Given the description of an element on the screen output the (x, y) to click on. 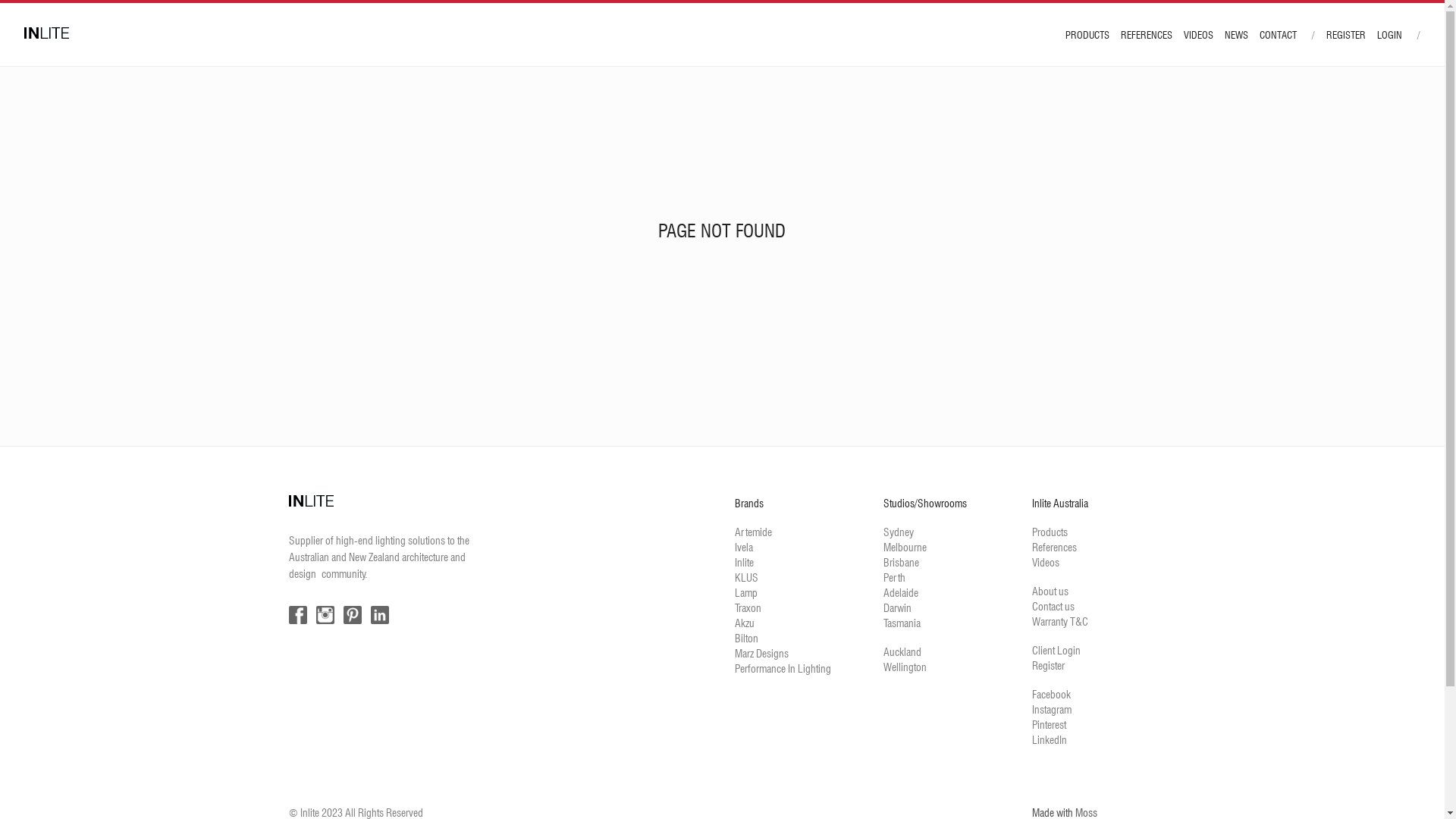
CONTACT Element type: text (1277, 34)
Artemide Element type: text (752, 531)
Register Element type: text (1047, 664)
Performance In Lighting Element type: text (782, 667)
Client Login Element type: text (1055, 649)
Inlite Australia FaceBook Element type: text (297, 614)
Pinterest Element type: text (1048, 724)
Auckland Element type: text (901, 651)
KLUS Element type: text (745, 576)
Bilton Element type: text (745, 637)
Warranty T&C Element type: text (1059, 620)
LOGIN Element type: text (1389, 34)
Sydney Element type: text (897, 531)
PAGE NOT FOUND Element type: text (721, 230)
Inlite Australia Instagram Element type: text (324, 614)
Brisbane Element type: text (900, 561)
Adelaide Element type: text (899, 592)
Traxon Element type: text (747, 607)
NEWS Element type: text (1236, 34)
Instagram Element type: text (1050, 708)
About us Element type: text (1049, 590)
References Element type: text (1053, 546)
Inlite Element type: text (743, 561)
Marz Designs Element type: text (760, 652)
VIDEOS Element type: text (1198, 34)
PRODUCTS Element type: text (1087, 34)
Akzu Element type: text (743, 622)
Contact us Element type: text (1052, 605)
Videos Element type: text (1044, 561)
Tasmania Element type: text (900, 622)
Inlite Australia Pinterest Element type: text (351, 614)
Darwin Element type: text (896, 607)
Inlite Linkedin Element type: text (379, 614)
Perth Element type: text (893, 576)
Ivela Element type: text (743, 546)
Facebook Element type: text (1050, 693)
Wellington Element type: text (903, 666)
Products Element type: text (1048, 531)
LinkedIn Element type: text (1048, 739)
REGISTER Element type: text (1345, 34)
Melbourne Element type: text (903, 546)
REFERENCES Element type: text (1146, 34)
Lamp Element type: text (745, 592)
